Given the description of an element on the screen output the (x, y) to click on. 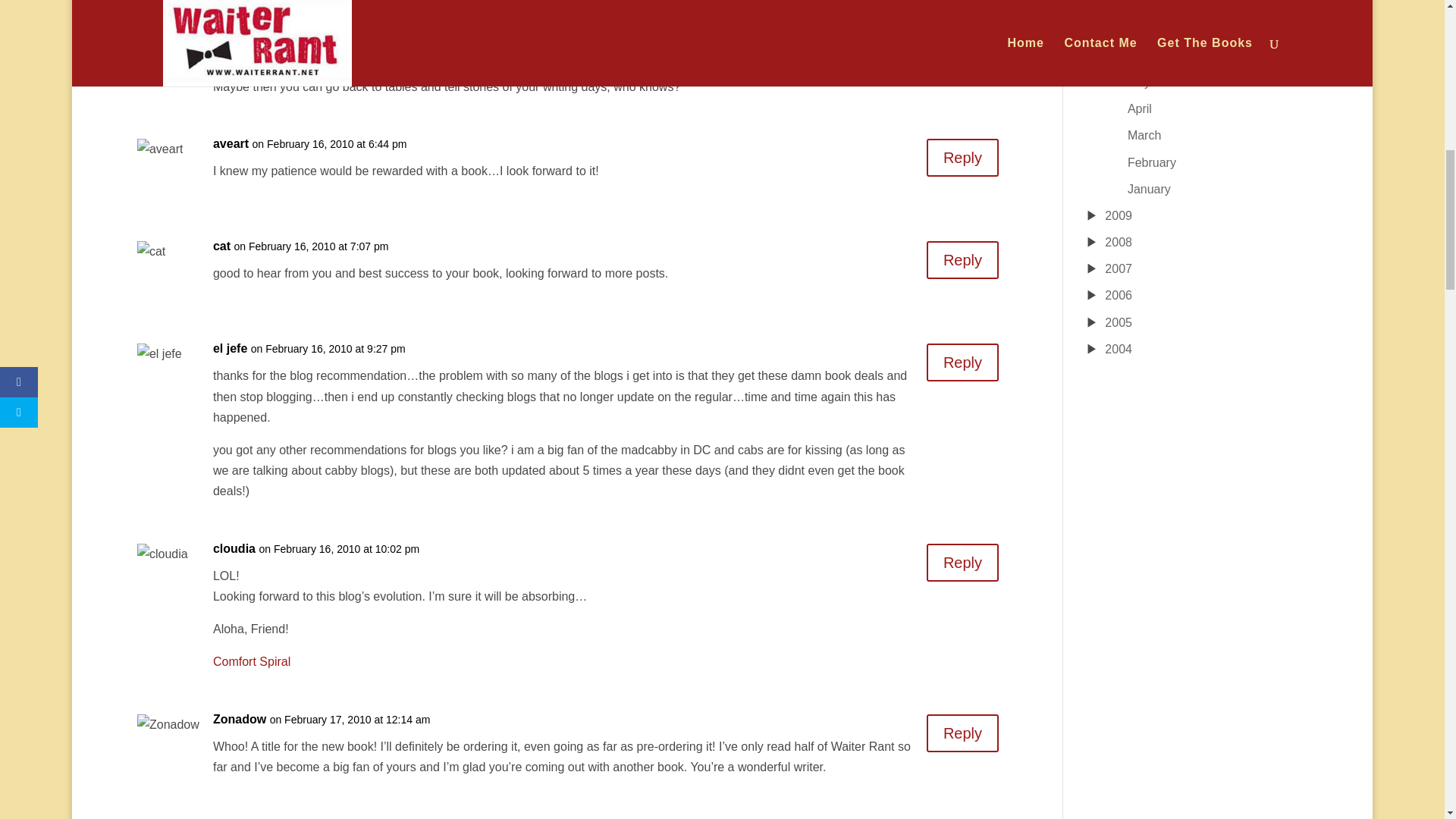
Reply (962, 733)
Comfort Spiral (250, 661)
Reply (962, 562)
Reply (962, 40)
Jane Doesnot (252, 26)
Reply (962, 259)
cloudia (234, 548)
Reply (962, 157)
Reply (962, 362)
